Given the description of an element on the screen output the (x, y) to click on. 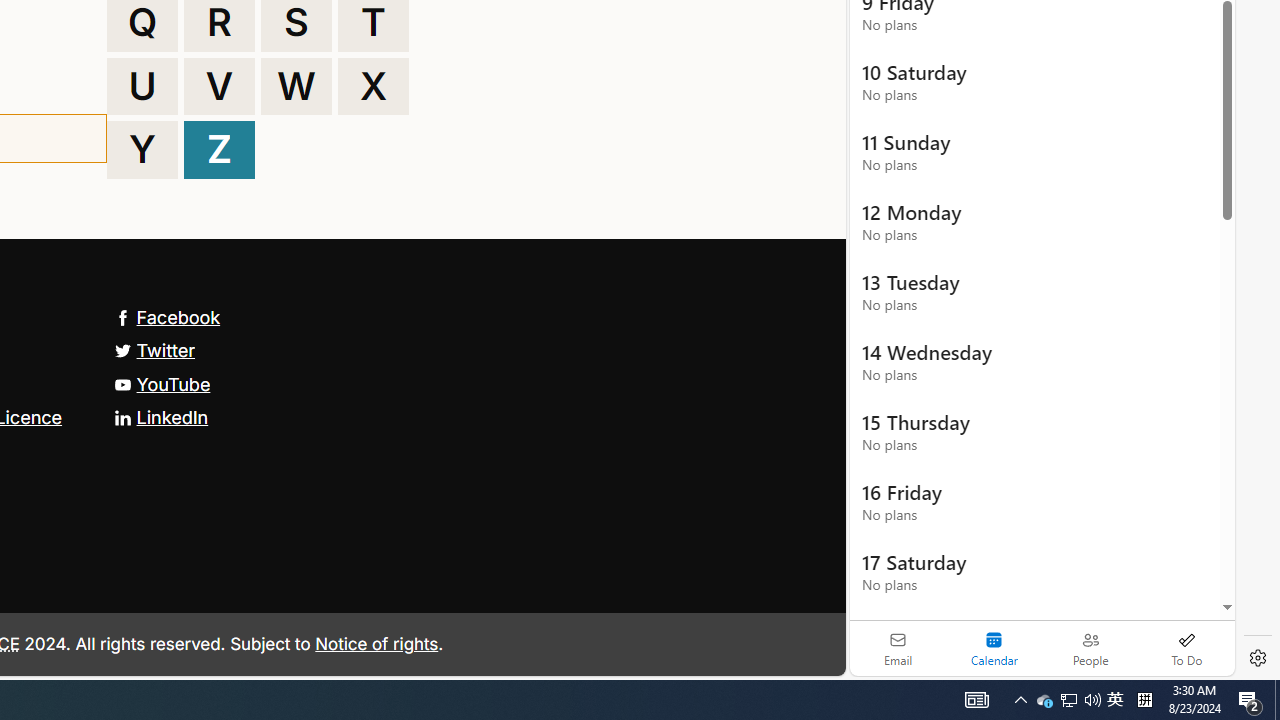
Facebook (167, 317)
Selected calendar module. Date today is 22 (994, 648)
U (142, 85)
W (296, 85)
Y (142, 149)
Twitter (154, 350)
U (142, 85)
To Do (1186, 648)
Notice of rights (376, 642)
W (296, 85)
X (373, 85)
